Given the description of an element on the screen output the (x, y) to click on. 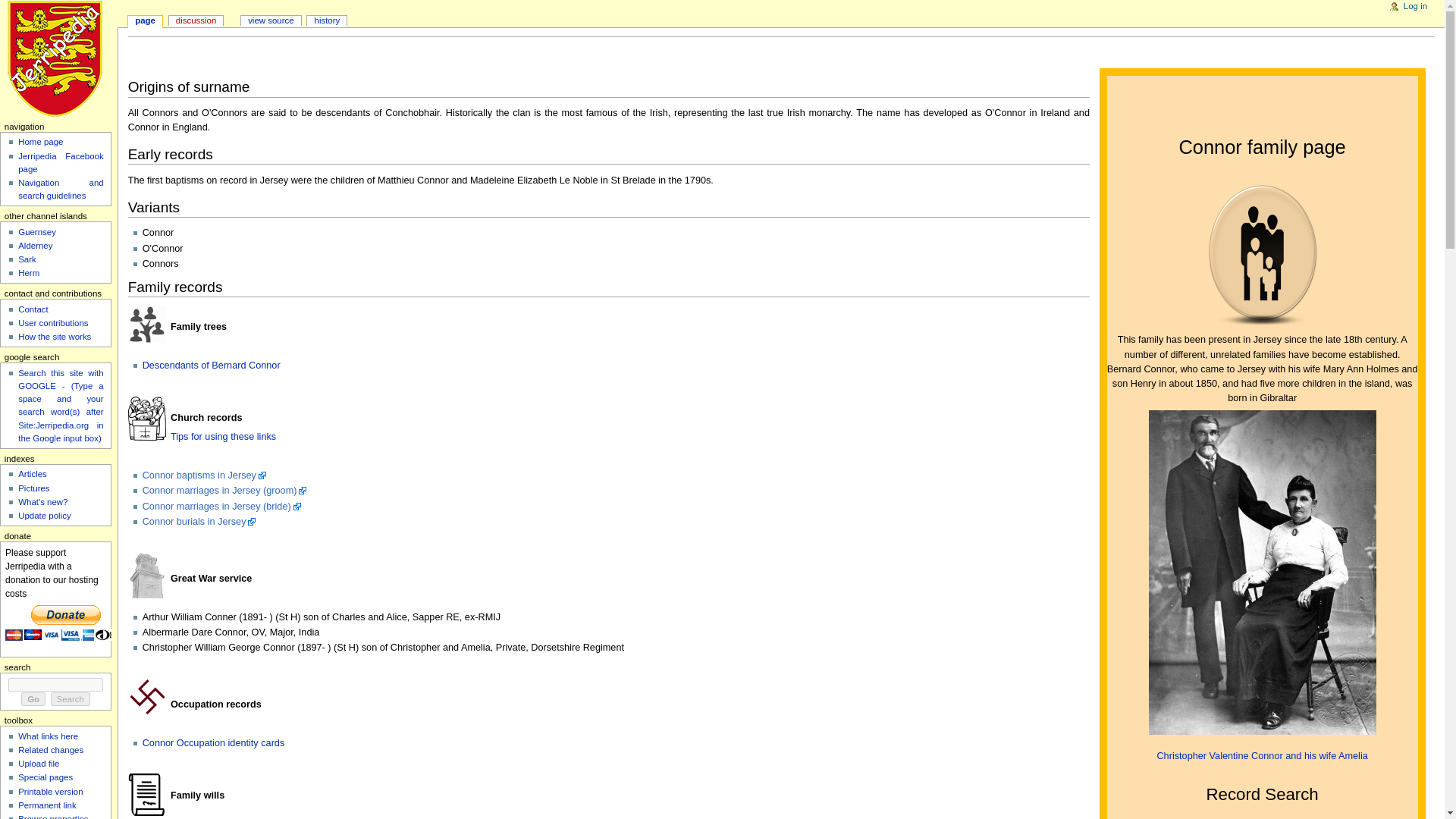
Go (33, 698)
Search (70, 698)
Connor Occupation identity cards (213, 742)
Christopher Valentine Connor and his wife Amelia (1261, 756)
Search (70, 698)
Tips for using these links (223, 436)
Go (33, 698)
Connor baptisms in Jersey (204, 475)
Descendants of Bernard Connor (211, 365)
Descendants of Bernard Connor (211, 365)
Descendants of Bernard Connor (1261, 756)
Connor (223, 436)
Connor burials in Jersey (199, 521)
